Given the description of an element on the screen output the (x, y) to click on. 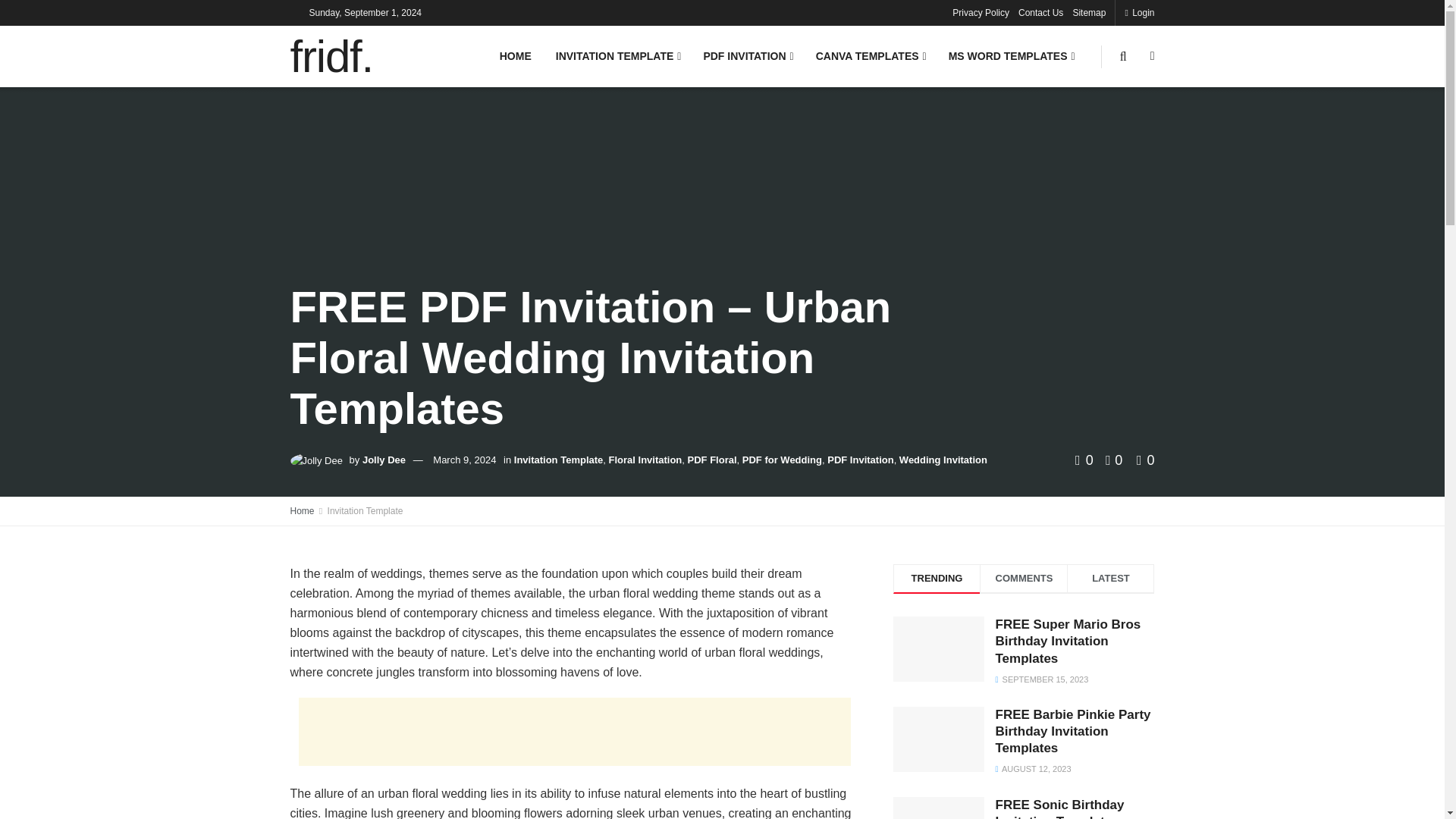
CANVA TEMPLATES (869, 55)
Privacy Policy (980, 12)
Contact Us (1039, 12)
PDF INVITATION (746, 55)
Sitemap (1088, 12)
fridf. (330, 55)
HOME (515, 55)
INVITATION TEMPLATE (617, 55)
MS WORD TEMPLATES (1010, 55)
Login (1139, 12)
